Given the description of an element on the screen output the (x, y) to click on. 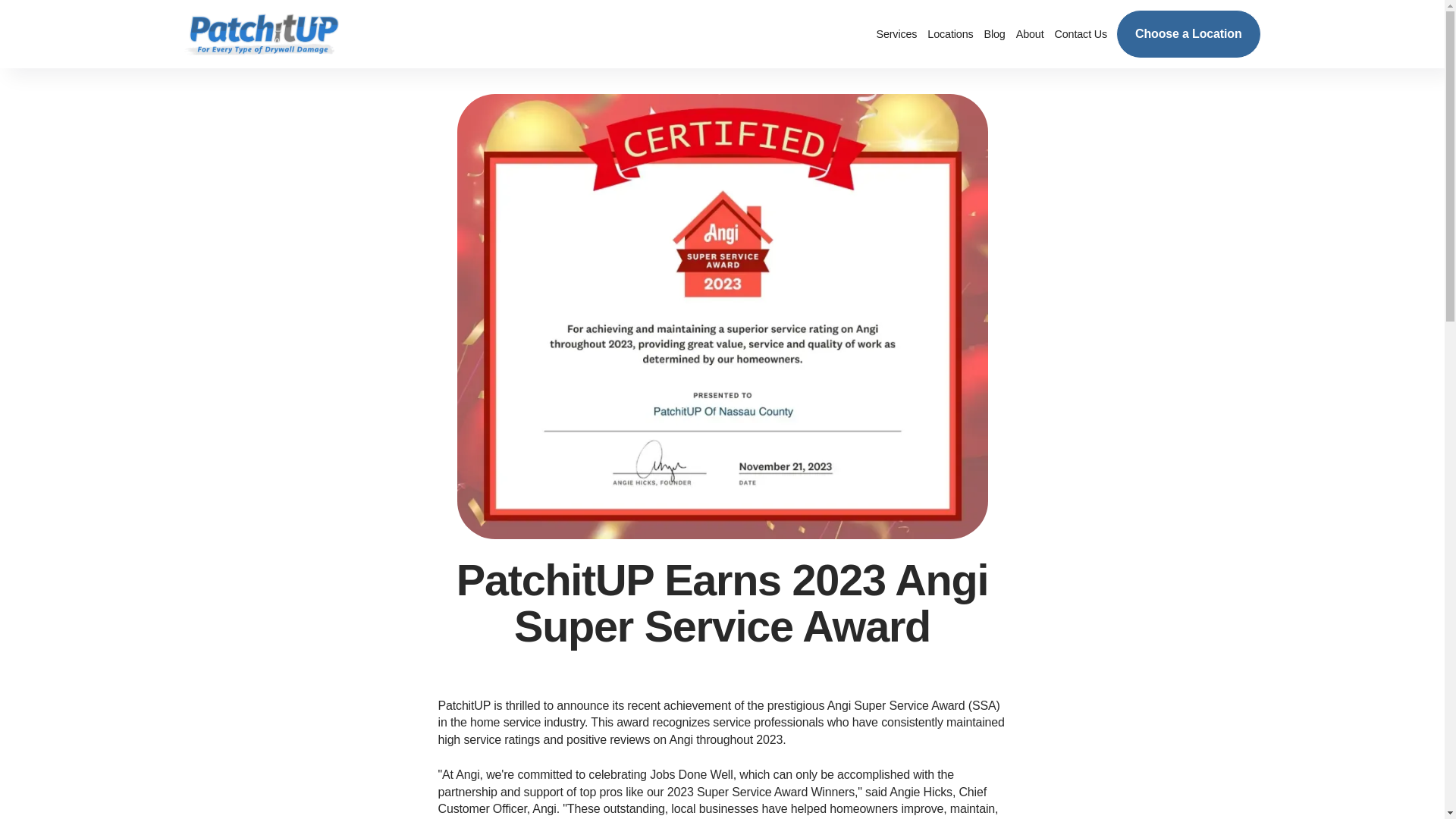
Choose a Location (1188, 33)
Contact Us (1081, 34)
Locations (949, 34)
